Given the description of an element on the screen output the (x, y) to click on. 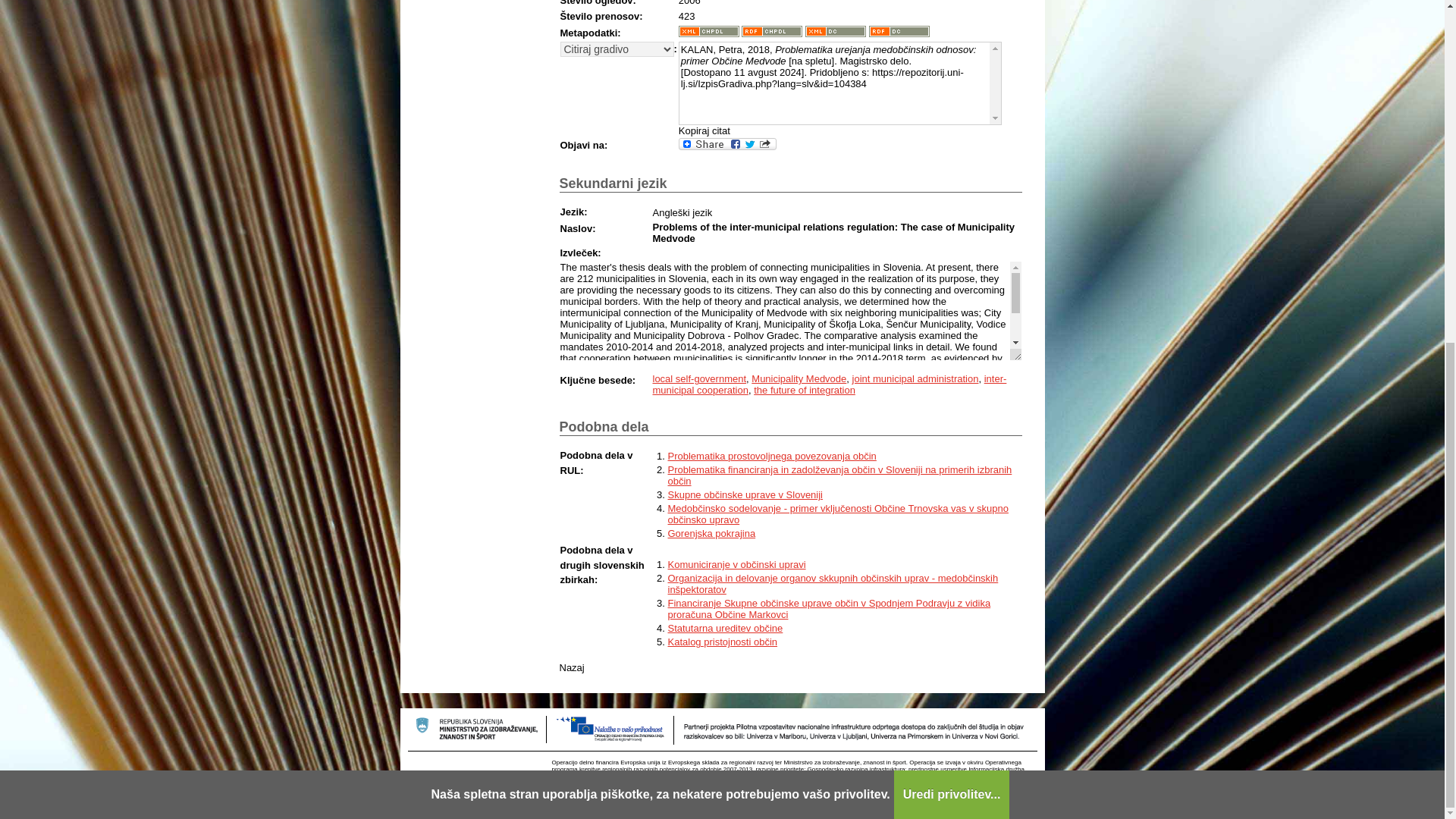
Izvoz v XML (708, 30)
Izvoz v DC-RDF (899, 30)
Izvoz v RDF-CHPDL (771, 30)
Kopiraj citat (704, 130)
Izvoz v DC-XML (835, 30)
Uredi privolitev... (951, 211)
Municipality Medvode (798, 378)
inter-municipal cooperation (829, 384)
joint municipal administration (914, 378)
local self-government (698, 378)
